Given the description of an element on the screen output the (x, y) to click on. 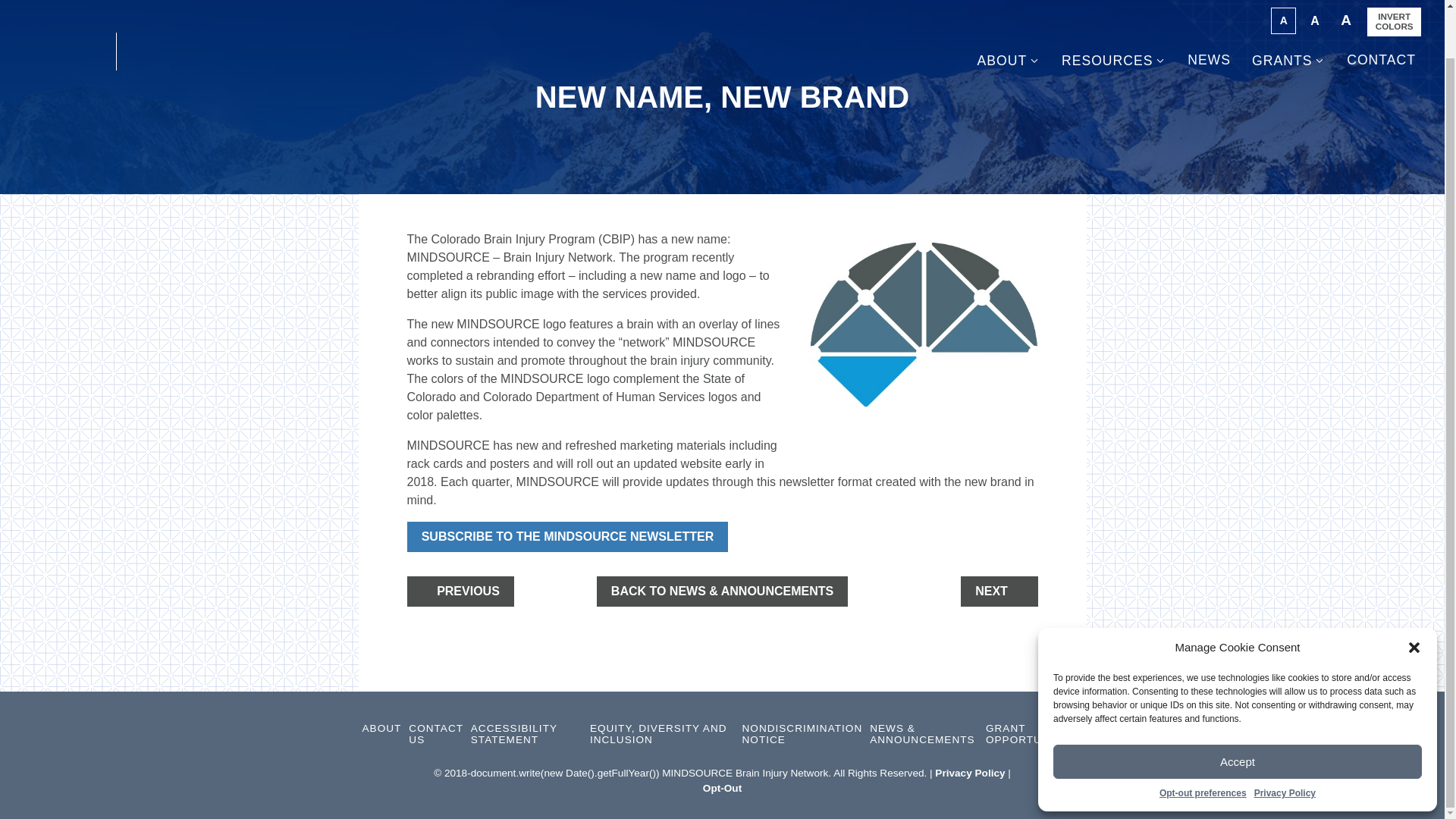
NEWS (1209, 9)
SUBSCRIBE TO THE MINDSOURCE NEWSLETTER (567, 536)
NEXT (999, 591)
GRANTS (1288, 9)
ABOUT (381, 728)
Link to MINDSOURCE Brain Injury Network (222, 9)
Privacy Policy (1284, 741)
Accept (1237, 709)
CONTACT US (436, 734)
RESOURCES (1113, 9)
Link to Colorado Department of Human Services. (66, 9)
Opt-out preferences (1202, 741)
CONTACT (1380, 9)
ABOUT (1008, 9)
PREVIOUS (459, 591)
